Given the description of an element on the screen output the (x, y) to click on. 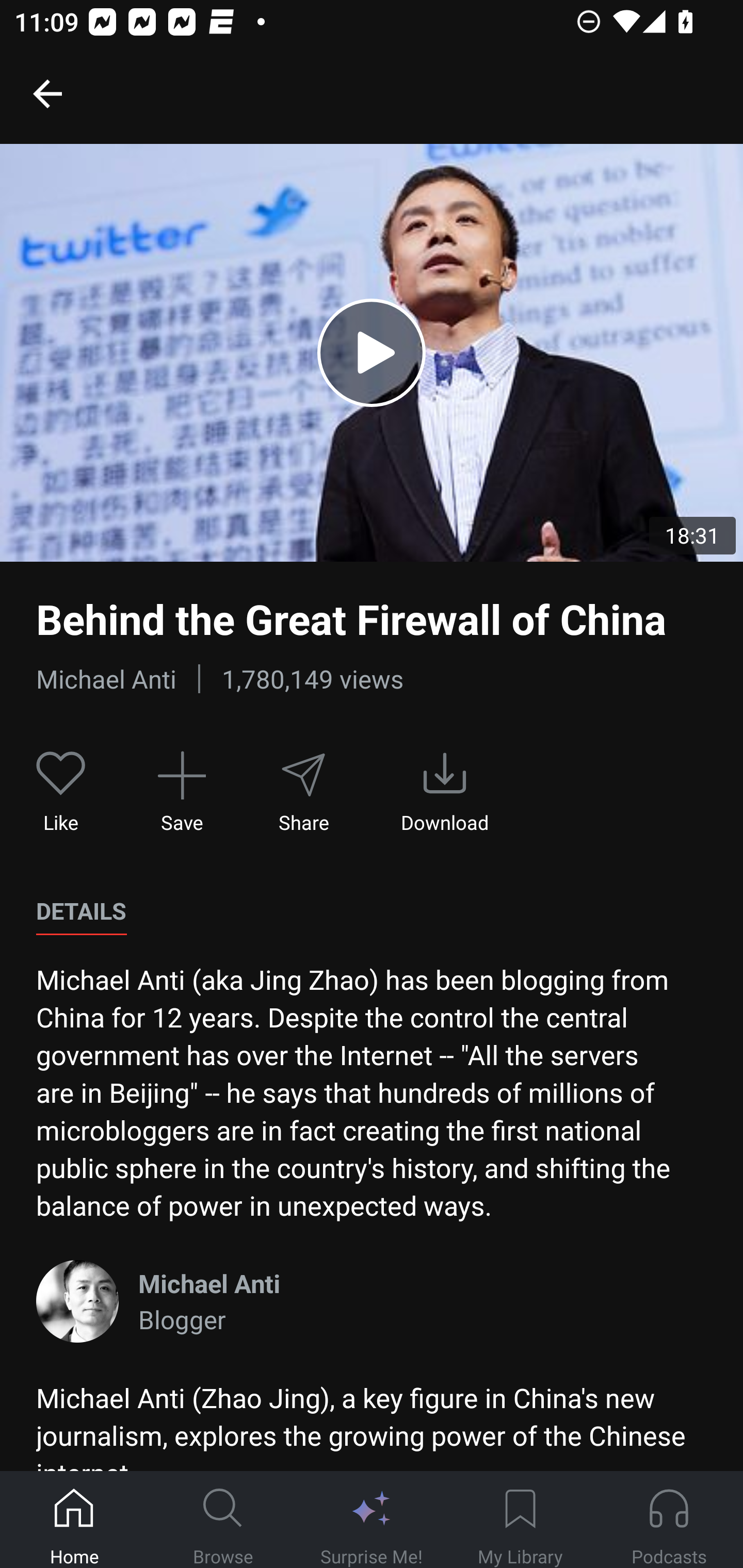
Go back (47, 92)
Like (60, 793)
Save (181, 793)
Share (302, 793)
Download (444, 793)
DETAILS (80, 911)
Home (74, 1520)
Browse (222, 1520)
Surprise Me! (371, 1520)
My Library (519, 1520)
Podcasts (668, 1520)
